Given the description of an element on the screen output the (x, y) to click on. 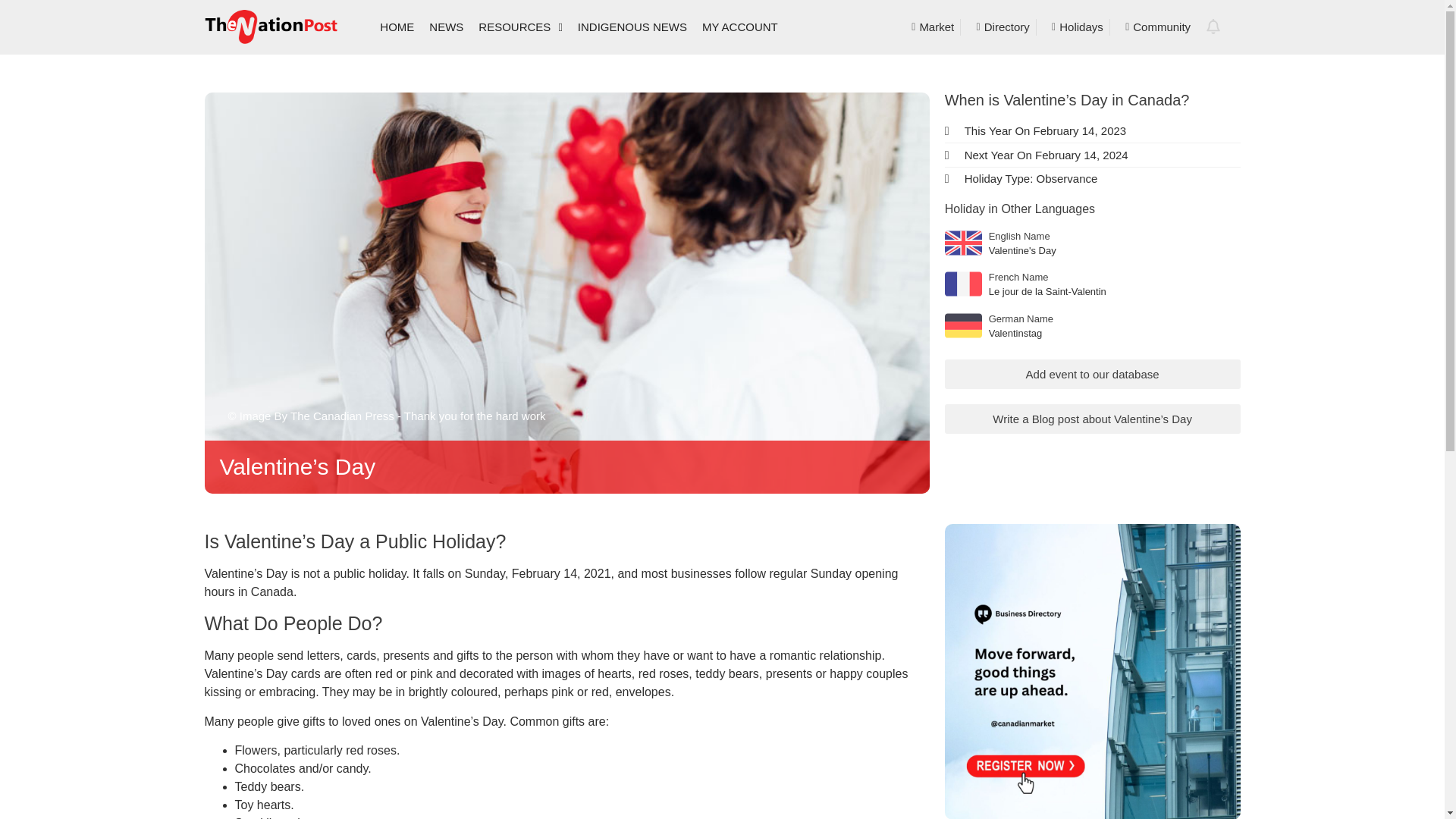
HOME (397, 26)
RESOURCES (520, 26)
Market (927, 27)
INDIGENOUS NEWS (632, 26)
NEWS (446, 26)
MY ACCOUNT (740, 26)
